Given the description of an element on the screen output the (x, y) to click on. 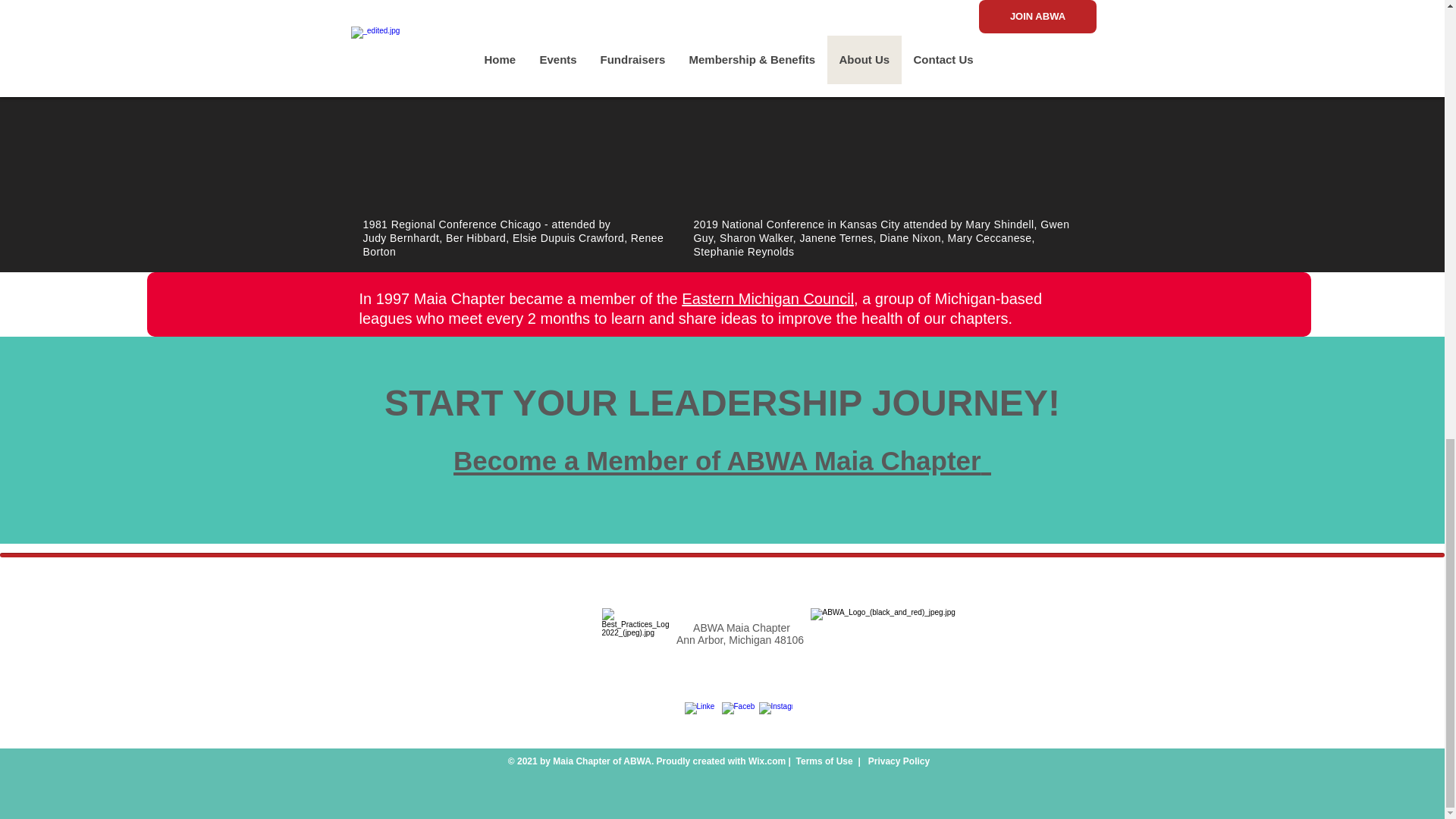
 Privacy Policy (897, 760)
Wix.com (767, 760)
Terms of Use (824, 760)
Become a Member of ABWA Maia Chapter  (721, 457)
Eastern Michigan Council (767, 298)
